Given the description of an element on the screen output the (x, y) to click on. 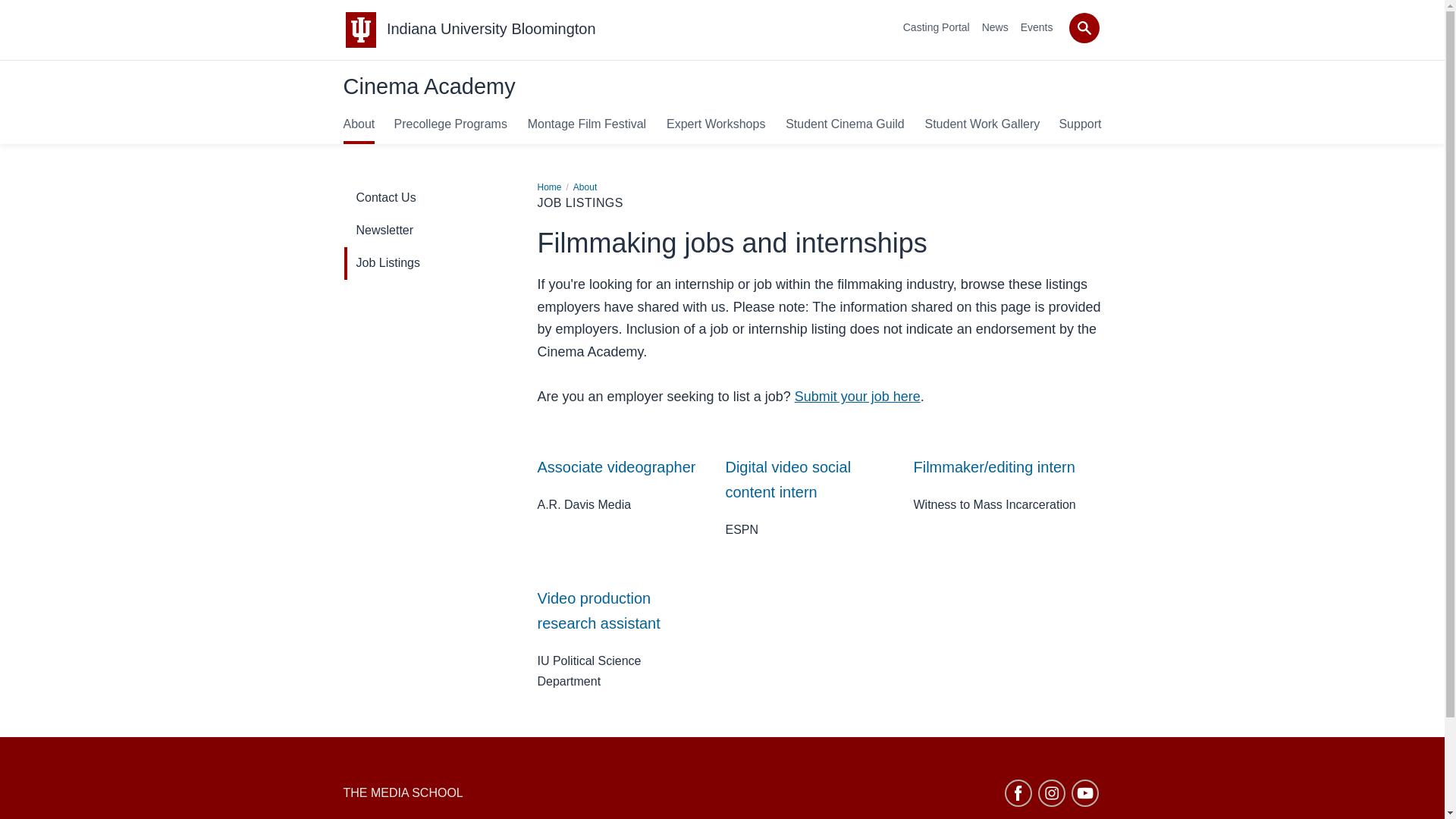
Expert Workshops (715, 124)
Events (1036, 27)
Indiana University Bloomington (491, 28)
News (995, 27)
Support (1079, 124)
Student Cinema Guild (845, 124)
Precollege Programs (449, 124)
Associate videographer (616, 467)
About (358, 124)
Student Work Gallery (981, 124)
